Given the description of an element on the screen output the (x, y) to click on. 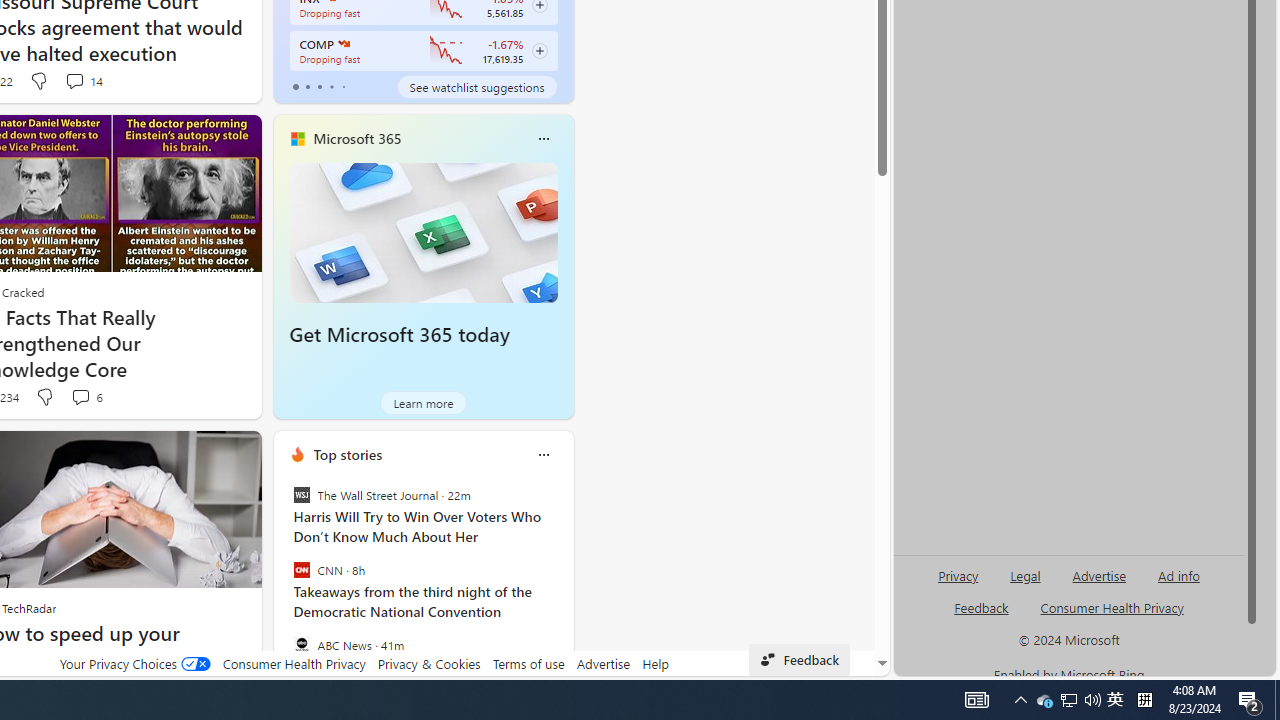
Top stories (347, 454)
tab-2 (319, 86)
Learn more (423, 402)
Class: follow-button  m (539, 51)
Dislike (43, 397)
Class: icon-img (543, 454)
next (563, 583)
Advertise (603, 663)
See more (237, 454)
Hide this story (201, 454)
Privacy & Cookies (429, 663)
tab-4 (342, 86)
The Wall Street Journal (301, 494)
Get Microsoft 365 today (399, 335)
